Given the description of an element on the screen output the (x, y) to click on. 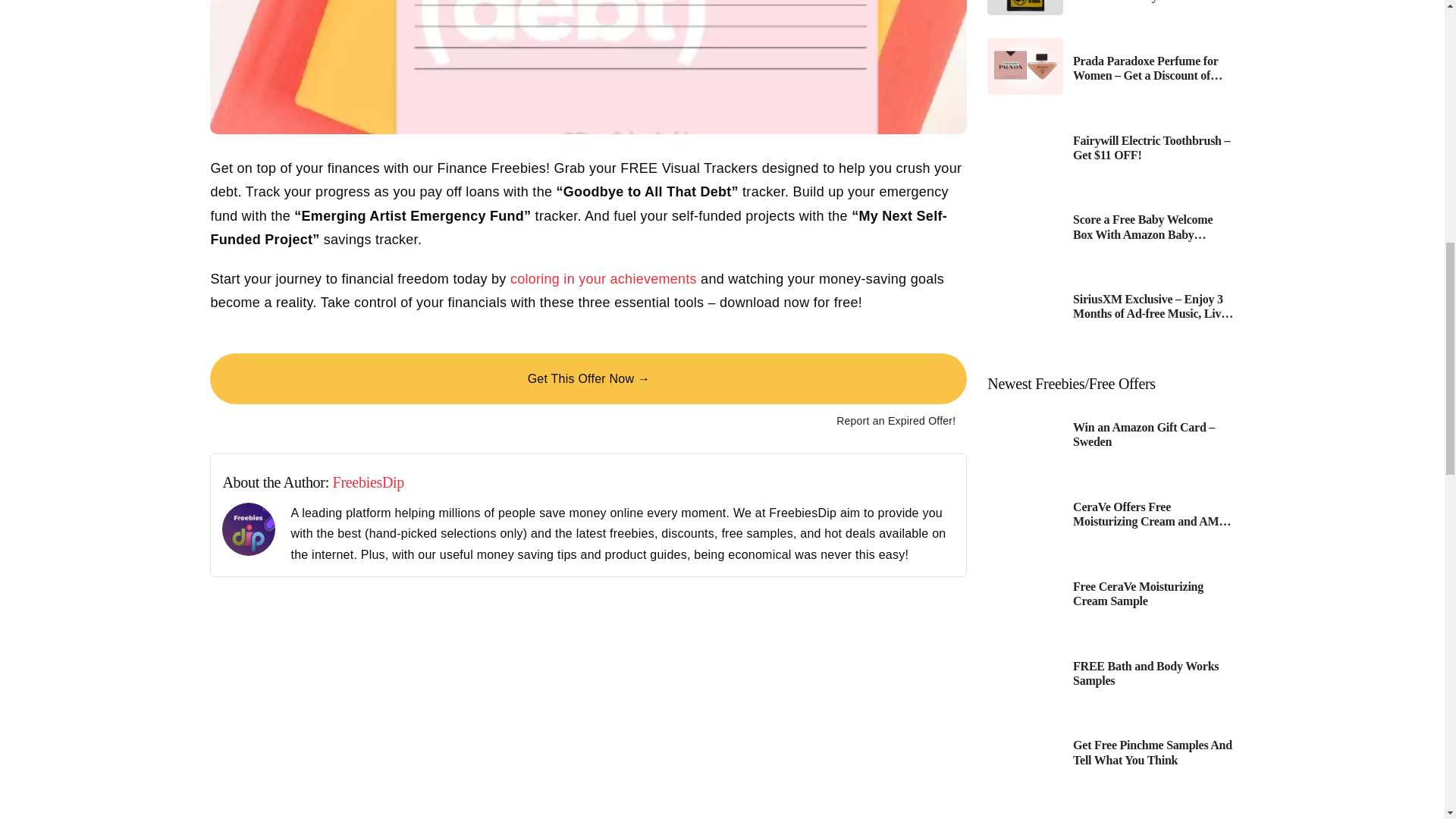
Free Visual Tracker (587, 66)
